Given the description of an element on the screen output the (x, y) to click on. 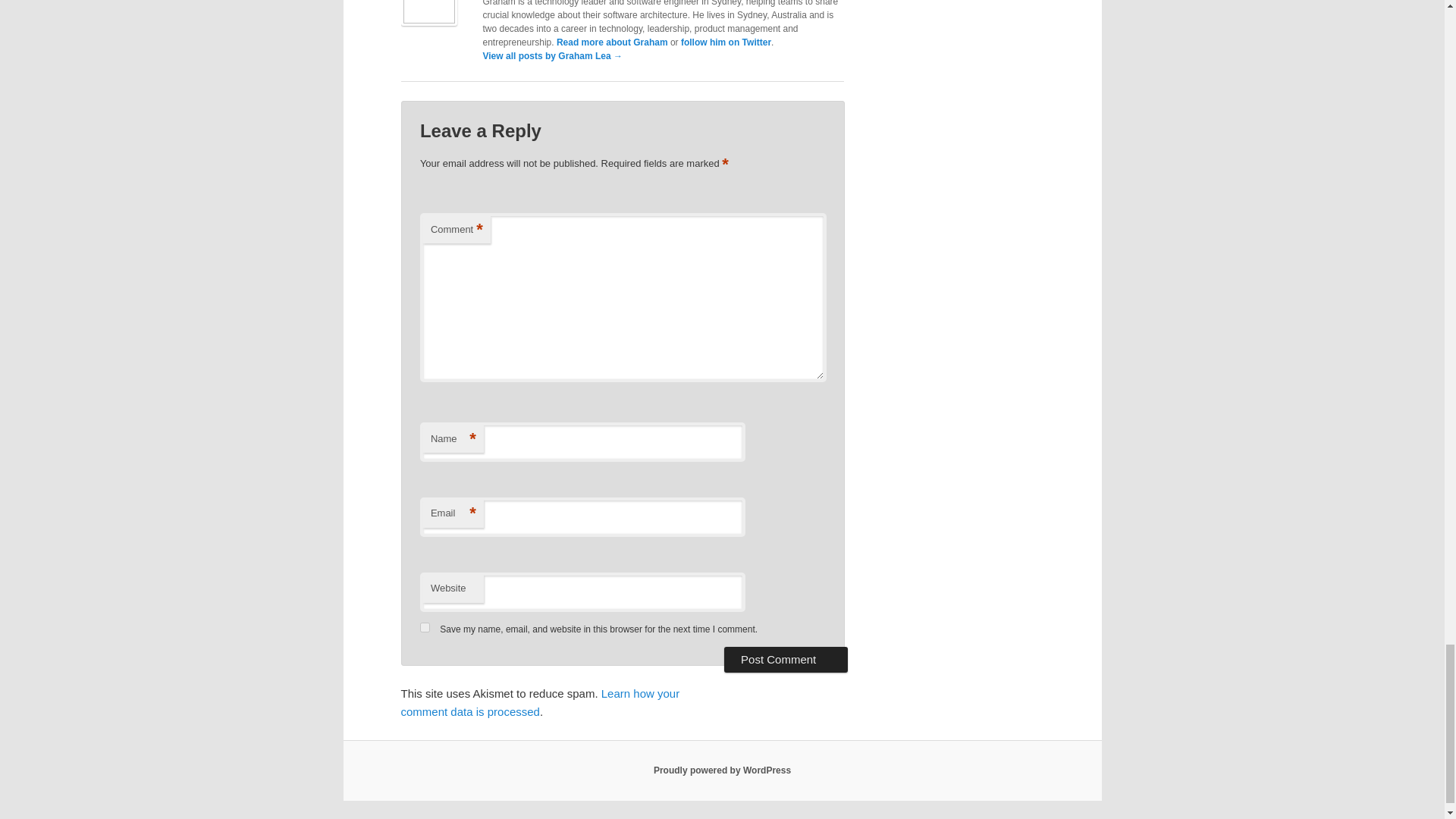
yes (424, 627)
Post Comment (785, 659)
